Given the description of an element on the screen output the (x, y) to click on. 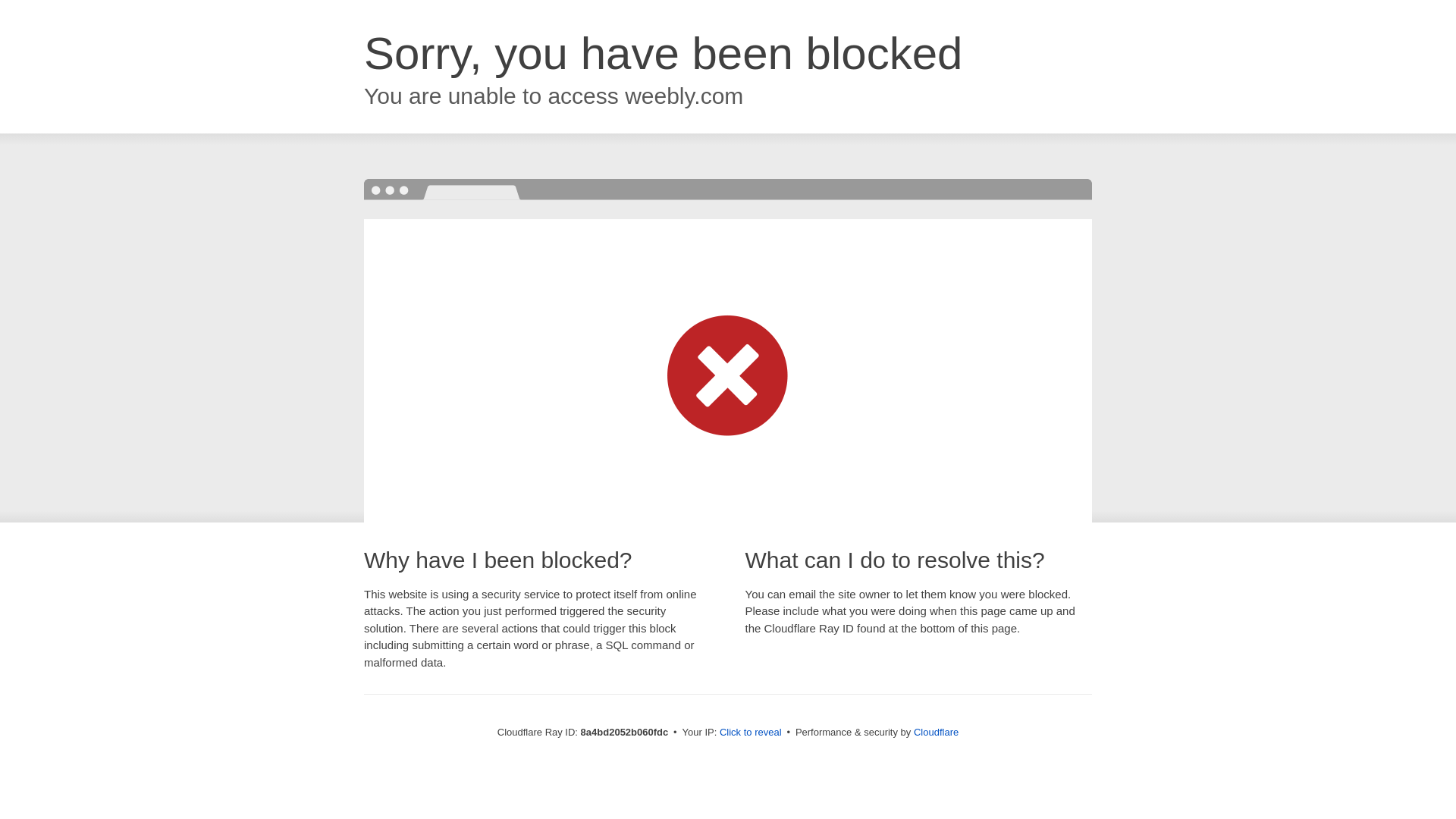
Cloudflare (936, 731)
Click to reveal (750, 732)
